Given the description of an element on the screen output the (x, y) to click on. 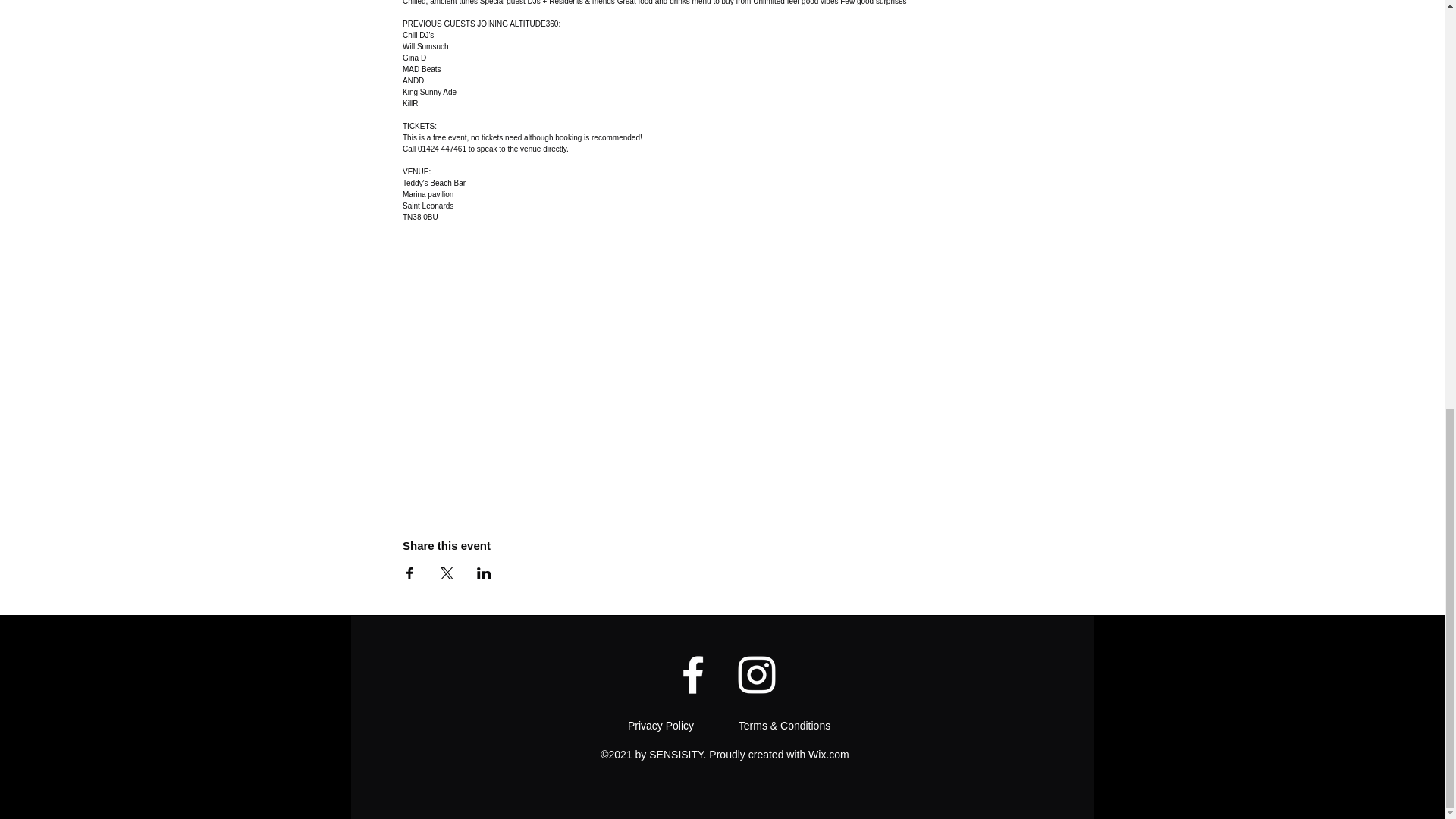
Privacy Policy (662, 726)
